Given the description of an element on the screen output the (x, y) to click on. 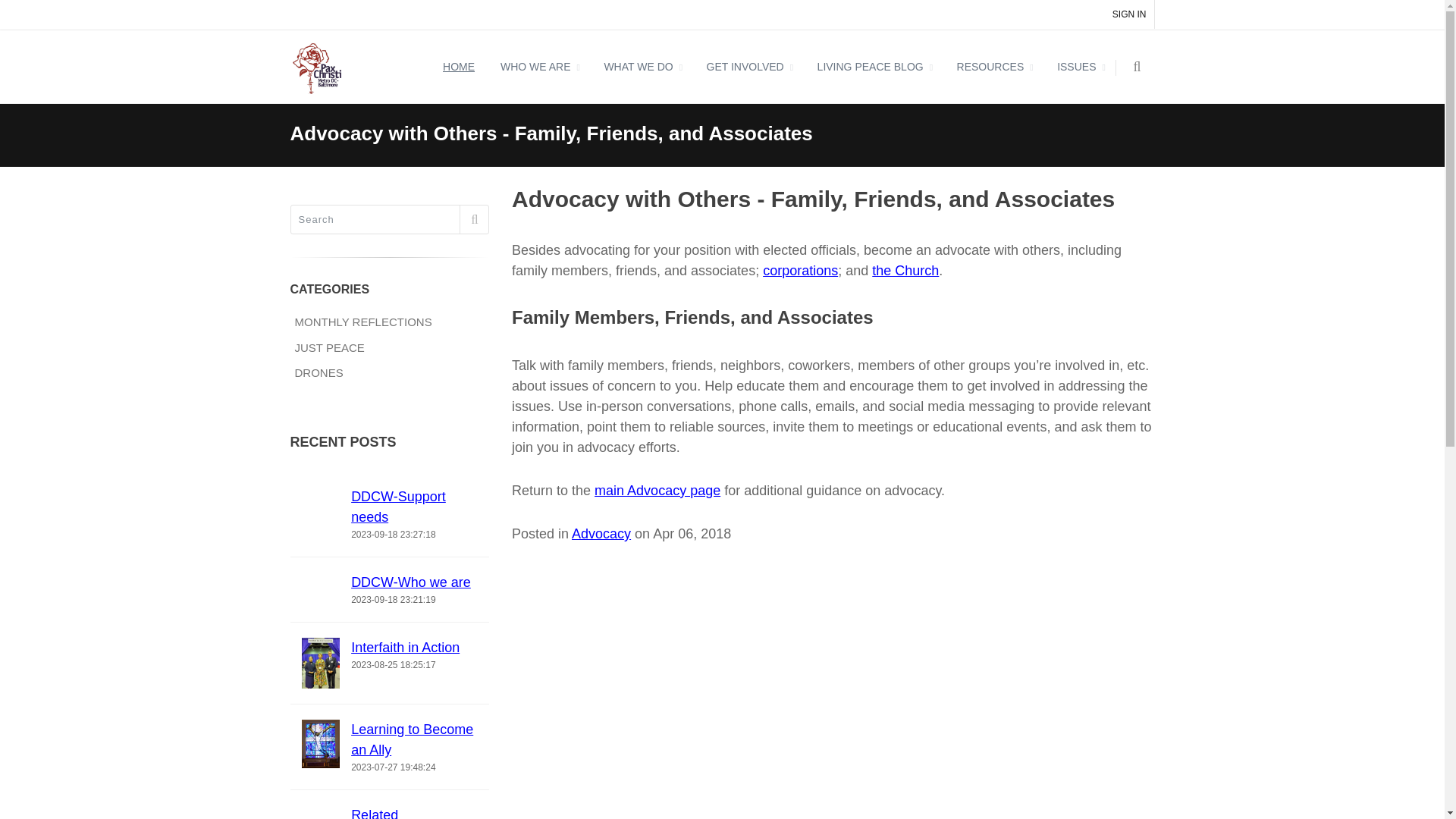
WHO WE ARE (539, 66)
LIVING PEACE BLOG (874, 66)
SIGN IN (1129, 14)
GET INVOLVED (749, 66)
RESOURCES (993, 66)
MONTHLY REFLECTIONS (383, 322)
WHAT WE DO (641, 66)
ISSUES (1080, 66)
